Given the description of an element on the screen output the (x, y) to click on. 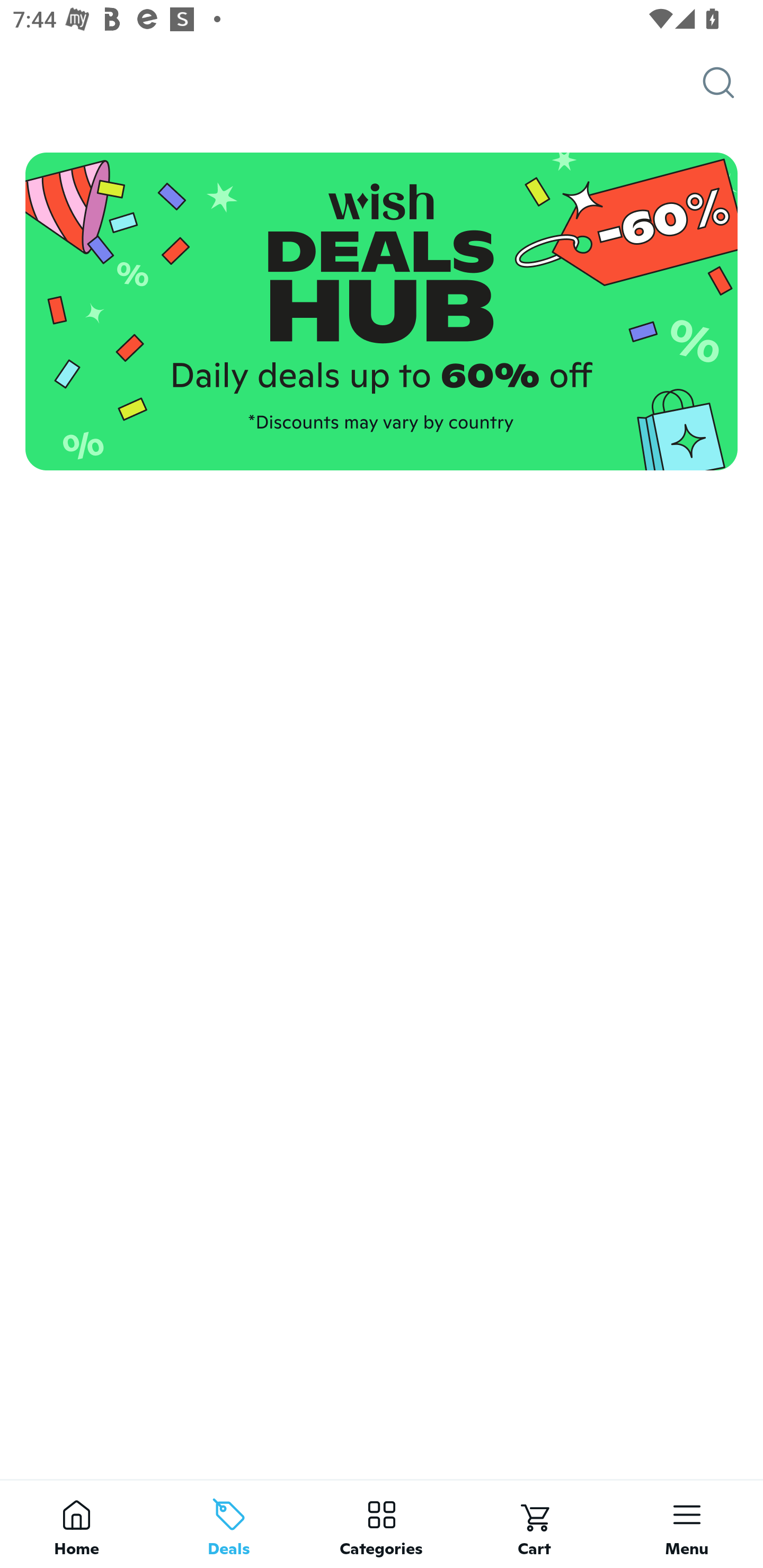
Search (732, 82)
Home (76, 1523)
Deals (228, 1523)
Categories (381, 1523)
Cart (533, 1523)
Menu (686, 1523)
